Given the description of an element on the screen output the (x, y) to click on. 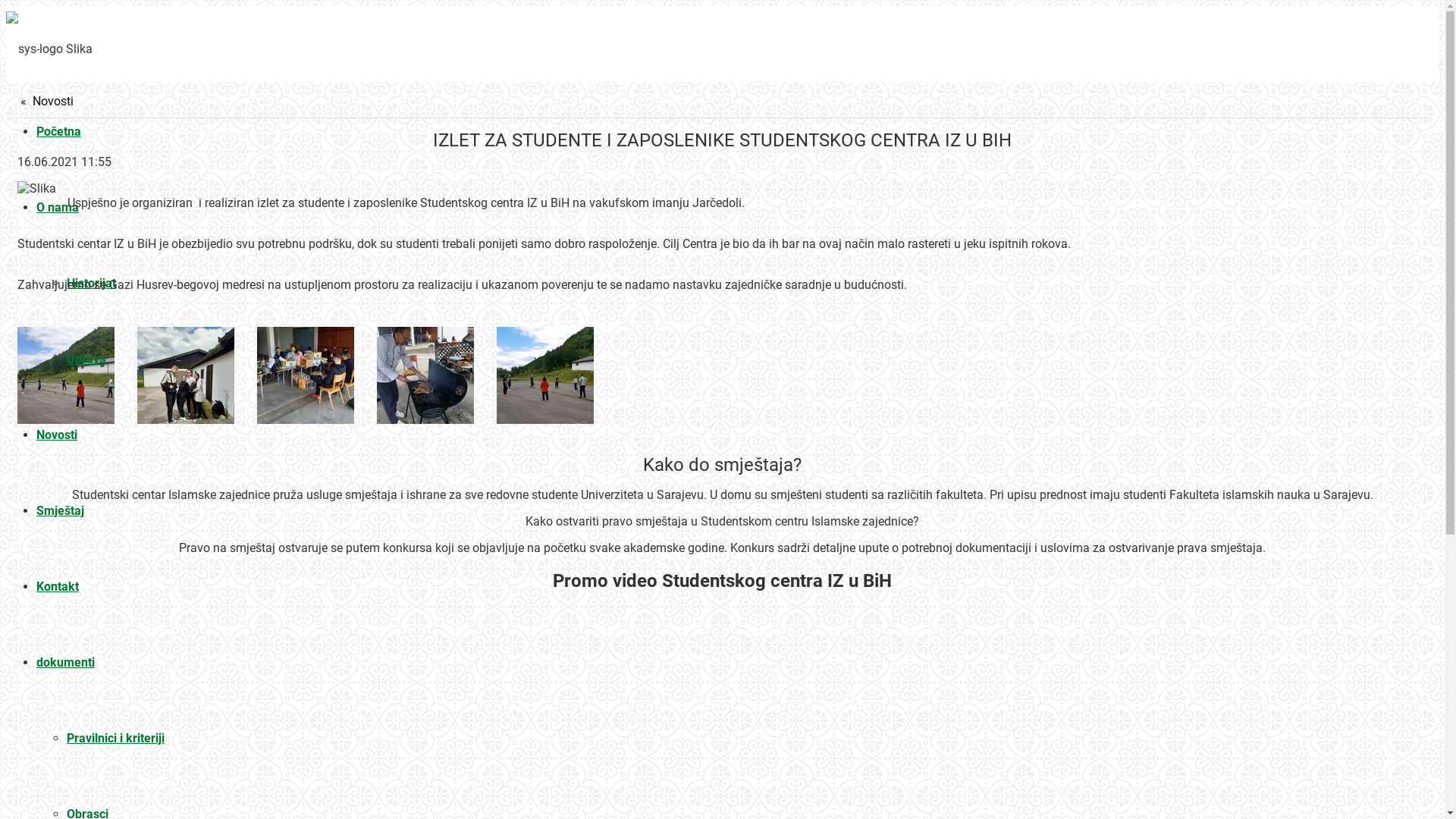
Historijat Element type: text (91, 283)
Pravilnici i kriteriji Element type: text (115, 738)
O nama Element type: text (57, 207)
Novosti Element type: text (46, 101)
Uprava Element type: text (86, 358)
dokumenti Element type: text (65, 662)
Novosti Element type: text (56, 434)
Kontakt Element type: text (57, 586)
